Given the description of an element on the screen output the (x, y) to click on. 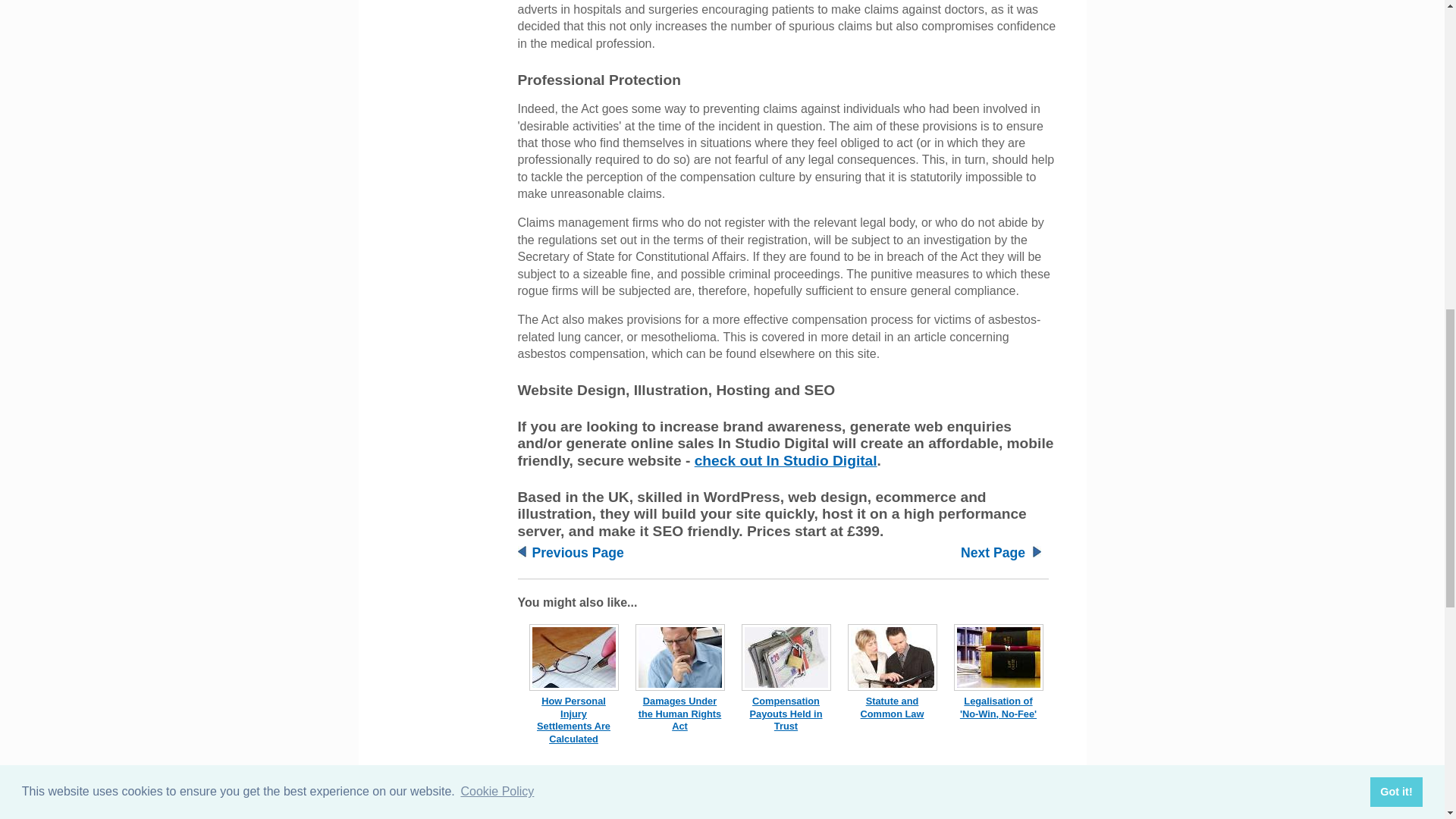
Legalisation of 'No-Win, No-Fee' (997, 707)
Previous Page (578, 552)
Statute and Common Law (892, 707)
How Personal Injury Settlements Are Calculated (573, 719)
Compensation Payouts Held in Trust (785, 713)
Damages Under the Human Rights Act (680, 713)
check out In Studio Digital (785, 460)
Next Page (992, 552)
